Given the description of an element on the screen output the (x, y) to click on. 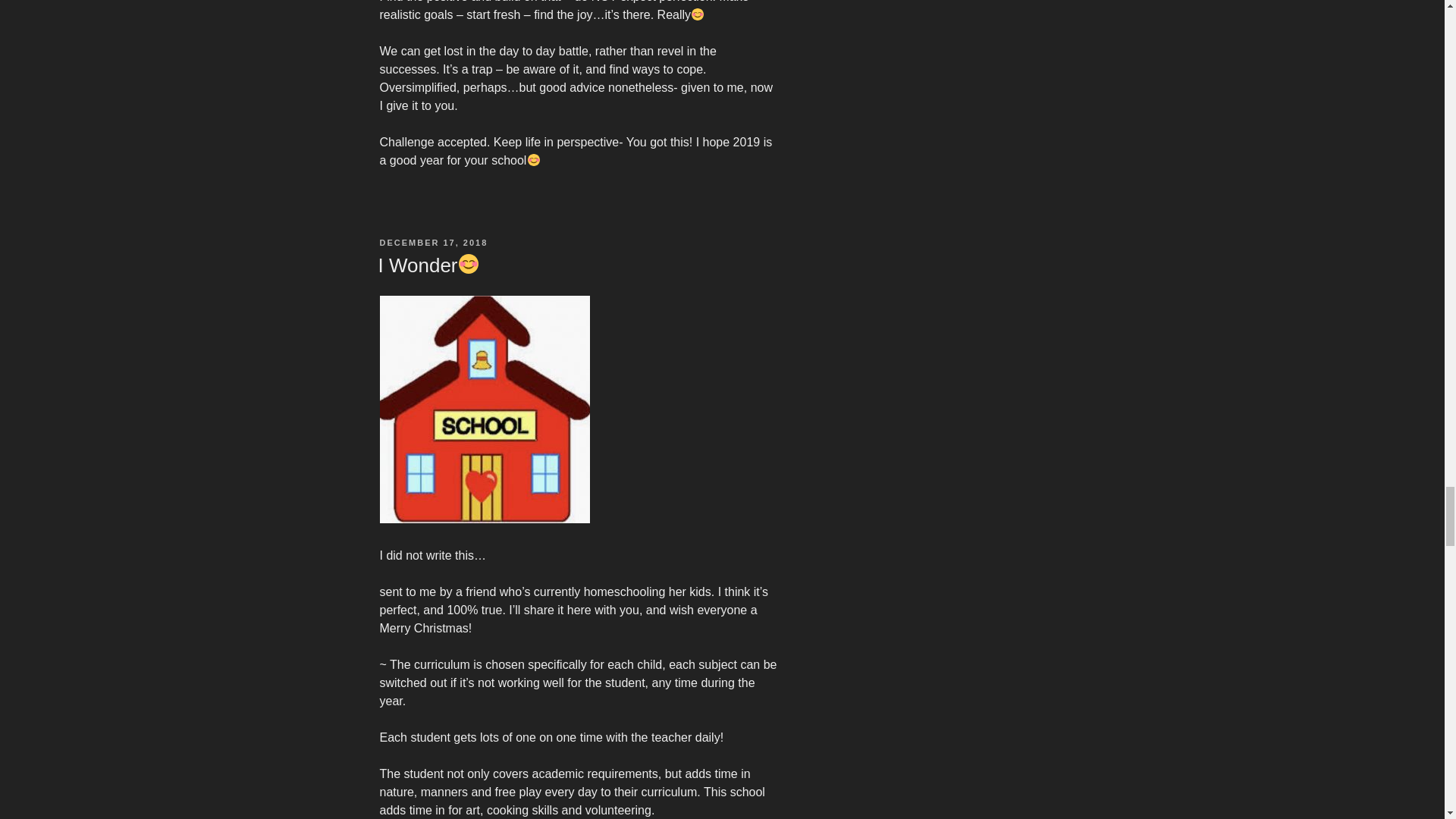
DECEMBER 17, 2018 (432, 242)
I Wonder (428, 264)
